Given the description of an element on the screen output the (x, y) to click on. 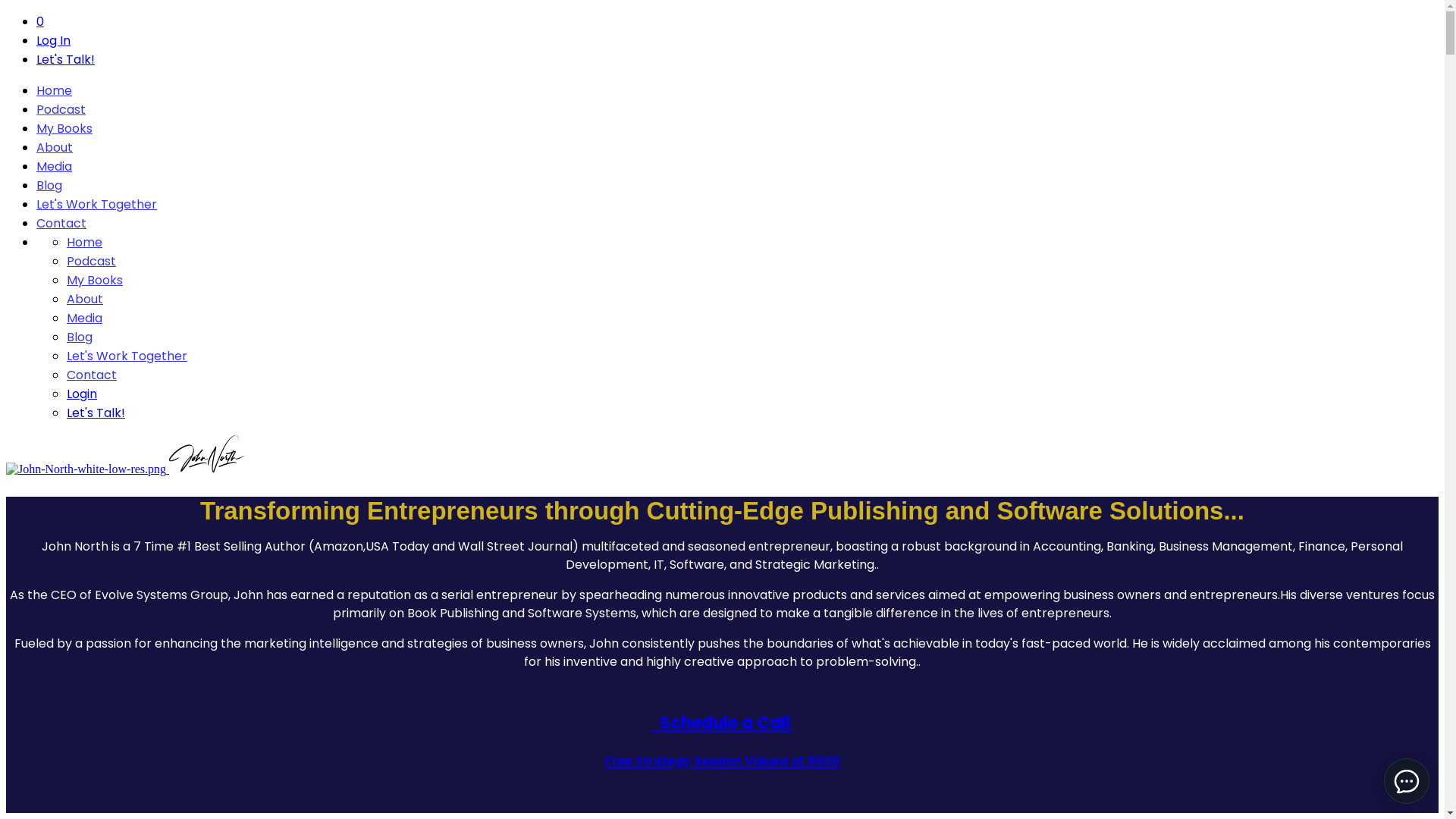
Home Element type: text (54, 90)
Login Element type: text (81, 393)
Media Element type: text (54, 166)
JOHN-logo-light.png Element type: hover (206, 453)
Home Element type: text (84, 242)
Log In Element type: text (53, 40)
Let's Talk! Element type: text (95, 412)
0 Element type: text (39, 21)
Podcast Element type: text (60, 109)
Let's Work Together Element type: text (126, 355)
Media Element type: text (84, 317)
Contact Element type: text (61, 223)
About Element type: text (84, 298)
My Books Element type: text (64, 128)
About Element type: text (54, 147)
Podcast Element type: text (91, 260)
John-North-white-low-res.png Element type: hover (86, 469)
My Books Element type: text (94, 279)
  Schedule a Call 
Free Strategy Session Valued at $500 Element type: text (722, 737)
Let's Talk! Element type: text (65, 59)
Blog Element type: text (49, 185)
Contact Element type: text (91, 374)
Blog Element type: text (79, 336)
Let's Work Together Element type: text (96, 204)
